Given the description of an element on the screen output the (x, y) to click on. 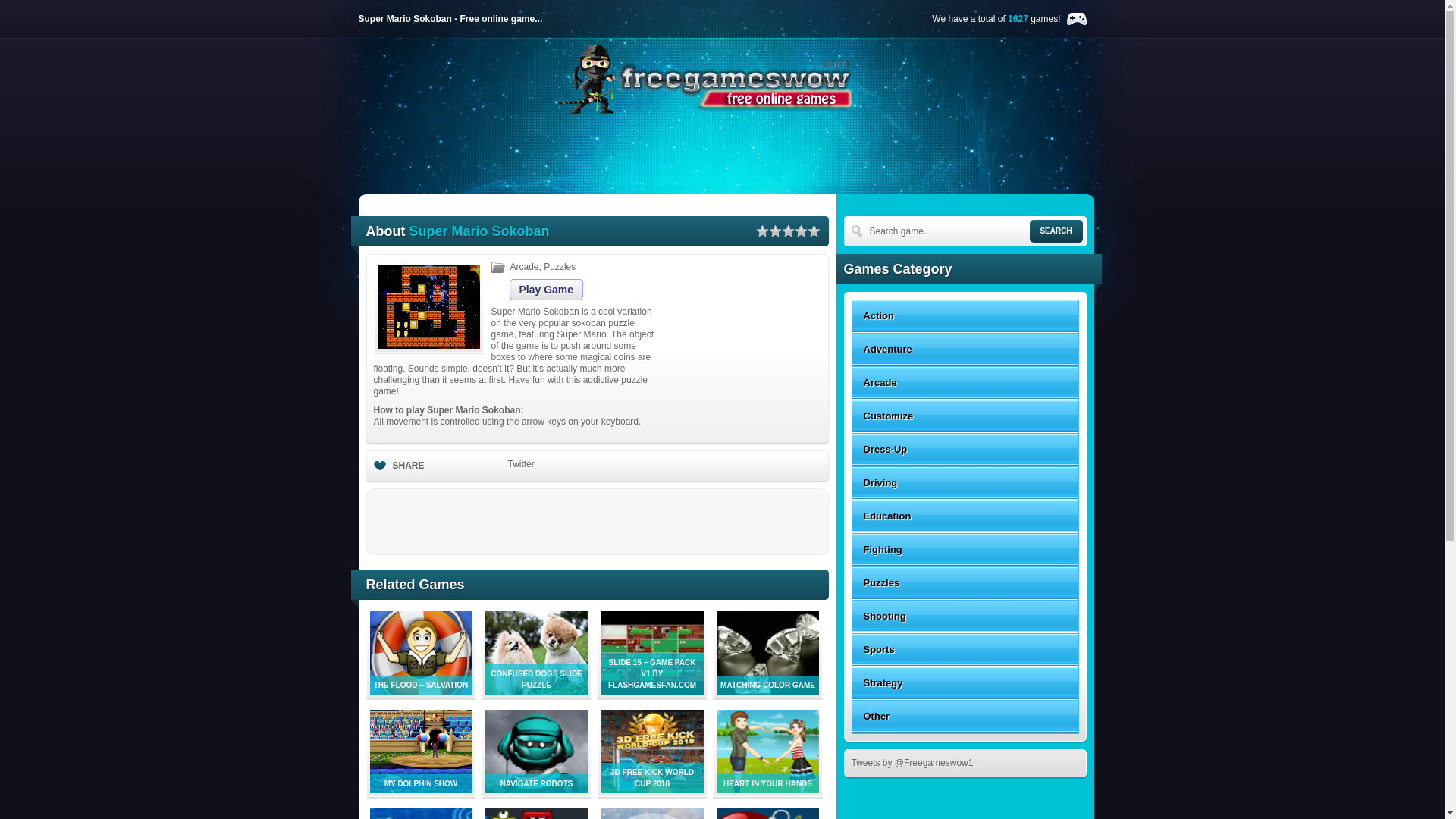
Advertisement (744, 337)
3D FREE KICK WORLD CUP 2018 (651, 789)
Advertisement (729, 155)
2 (774, 230)
Arcade (523, 266)
Strategy (964, 683)
Driving (964, 482)
HEART IN YOUR HANDS (767, 789)
Dress-Up (964, 449)
Adventure (964, 349)
5 (813, 230)
Play Super Mario Sokoban (546, 289)
MY DOLPHIN SHOW (420, 789)
CONFUSED DOGS SLIDE PUZZLE (536, 691)
Puzzles (559, 266)
